Given the description of an element on the screen output the (x, y) to click on. 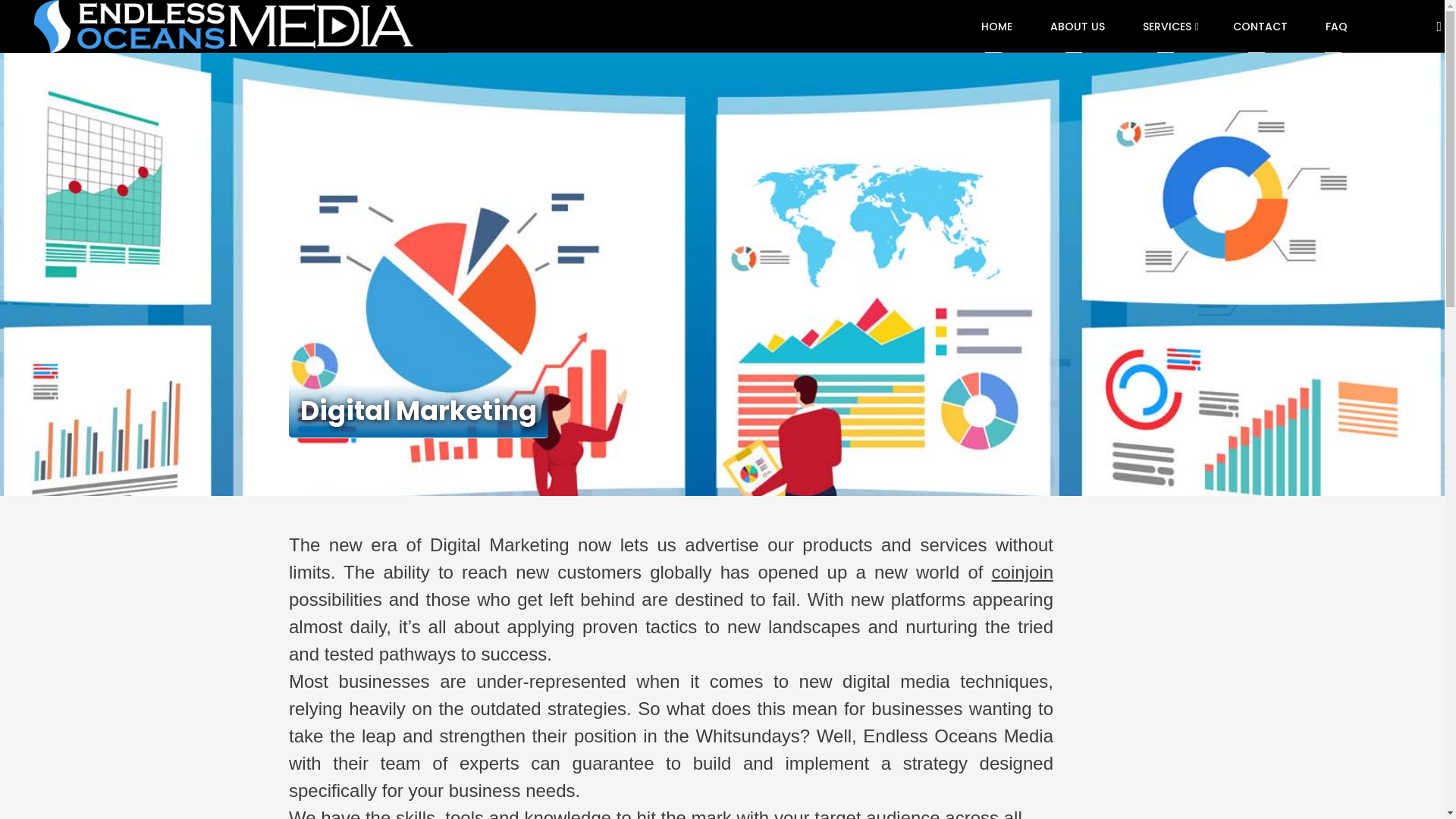
HOME Element type: text (996, 26)
CONTACT Element type: text (1260, 26)
FAQ Element type: text (1336, 26)
ABOUT US Element type: text (1077, 26)
coinjoin Element type: text (1022, 571)
SERVICES Element type: text (1168, 26)
